Given the description of an element on the screen output the (x, y) to click on. 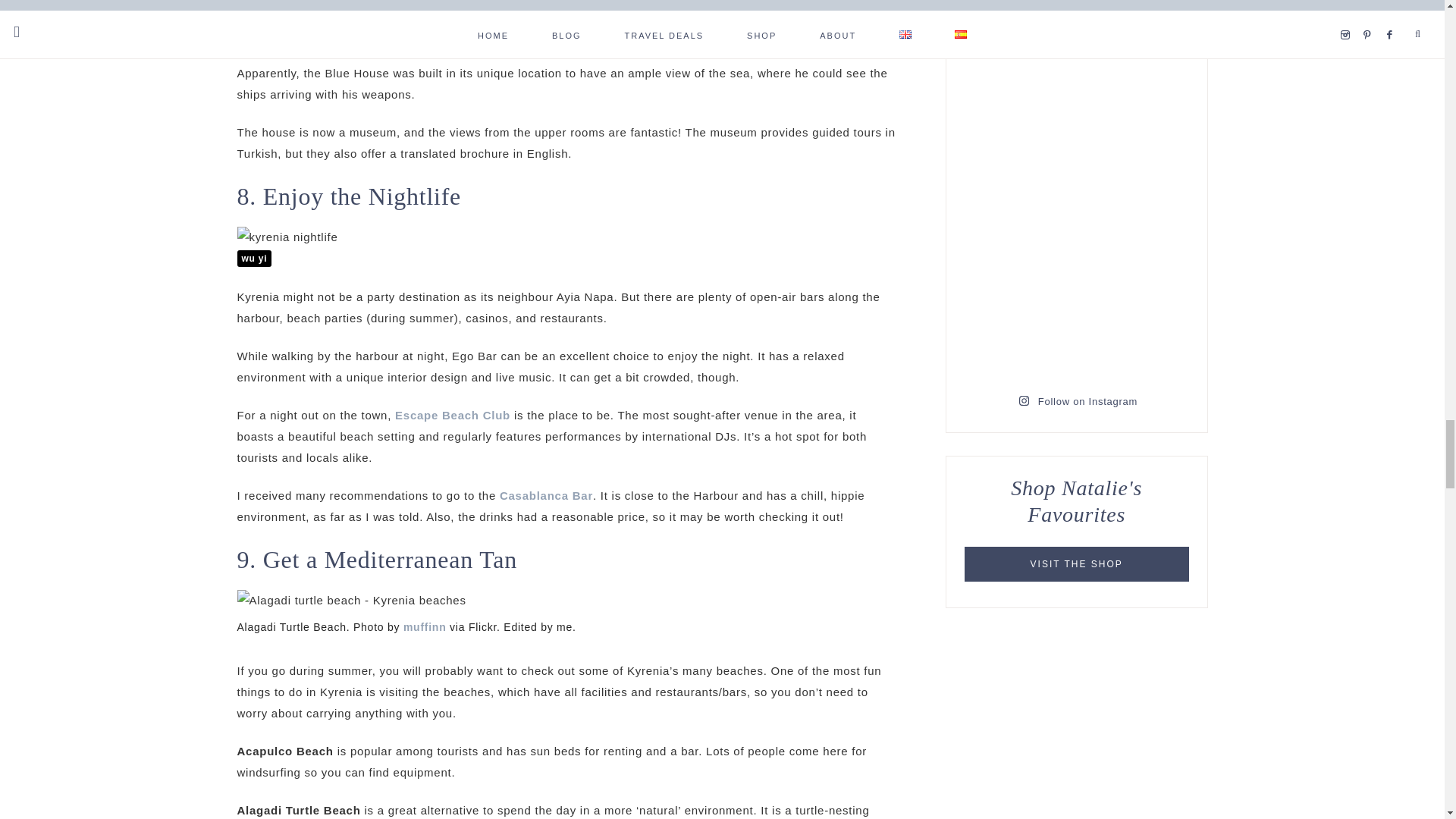
wu yi (252, 258)
Escape Beach Club (452, 414)
